Given the description of an element on the screen output the (x, y) to click on. 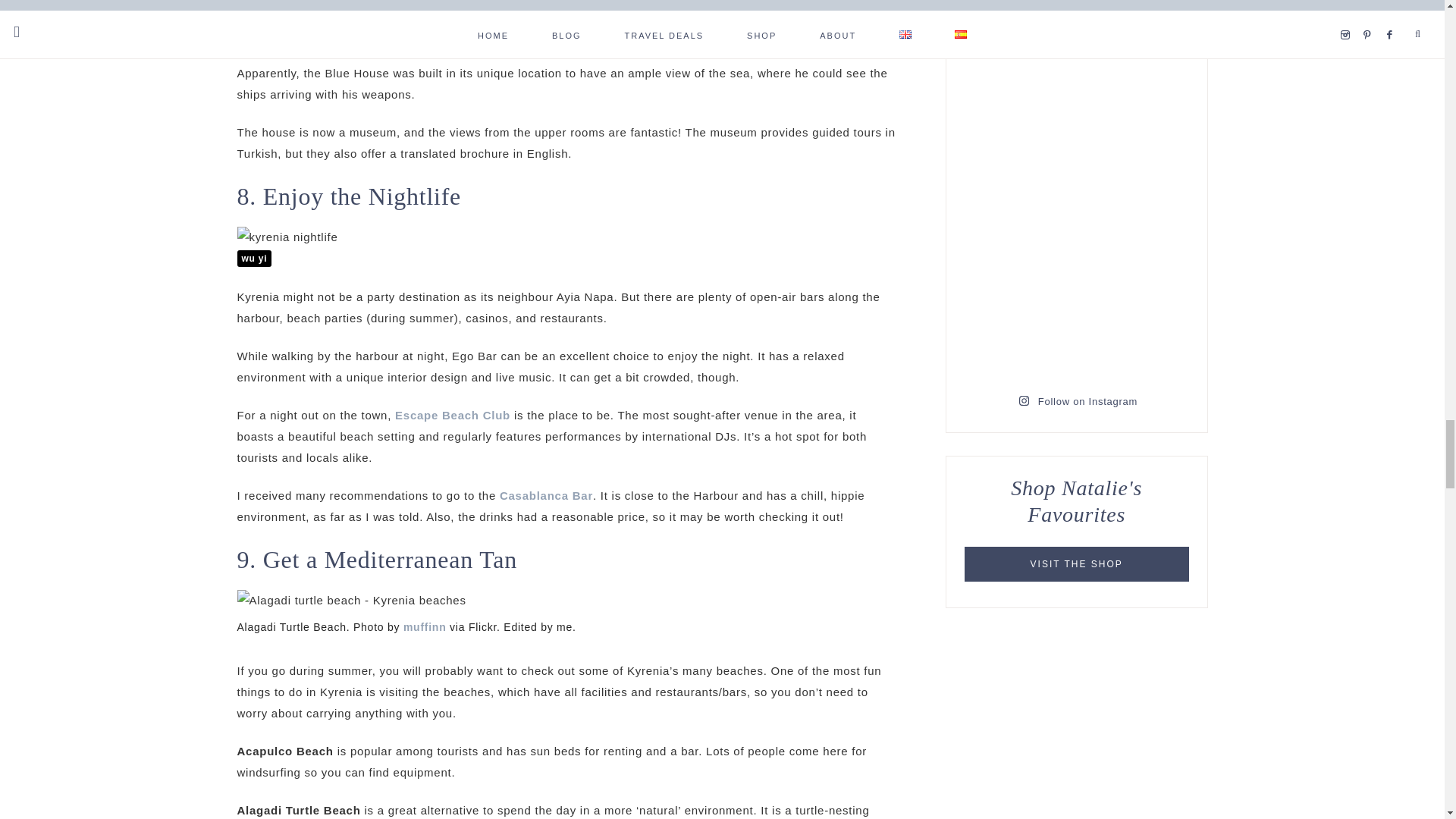
wu yi (252, 258)
Escape Beach Club (452, 414)
